Given the description of an element on the screen output the (x, y) to click on. 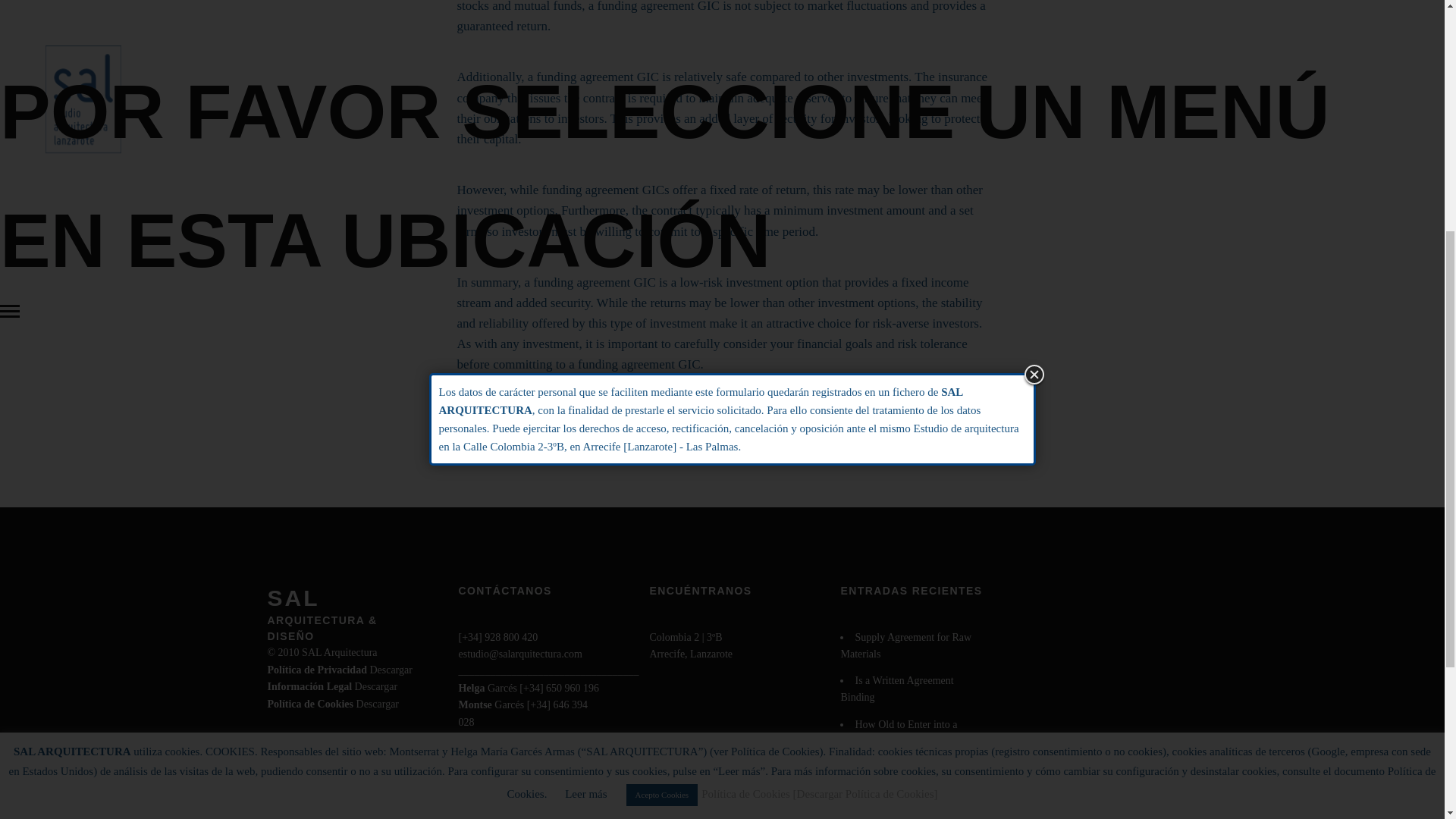
How Old to Enter into a Contract (898, 732)
Helga (471, 687)
Descargar (390, 669)
Canada-Saskatchewan Integrated Bilateral Agreement (905, 776)
Is a Written Agreement Binding (896, 688)
Descargar (376, 686)
Acepto Cookies (662, 382)
Supply Agreement for Raw Materials (905, 645)
Montse (475, 704)
Descargar (377, 704)
